Given the description of an element on the screen output the (x, y) to click on. 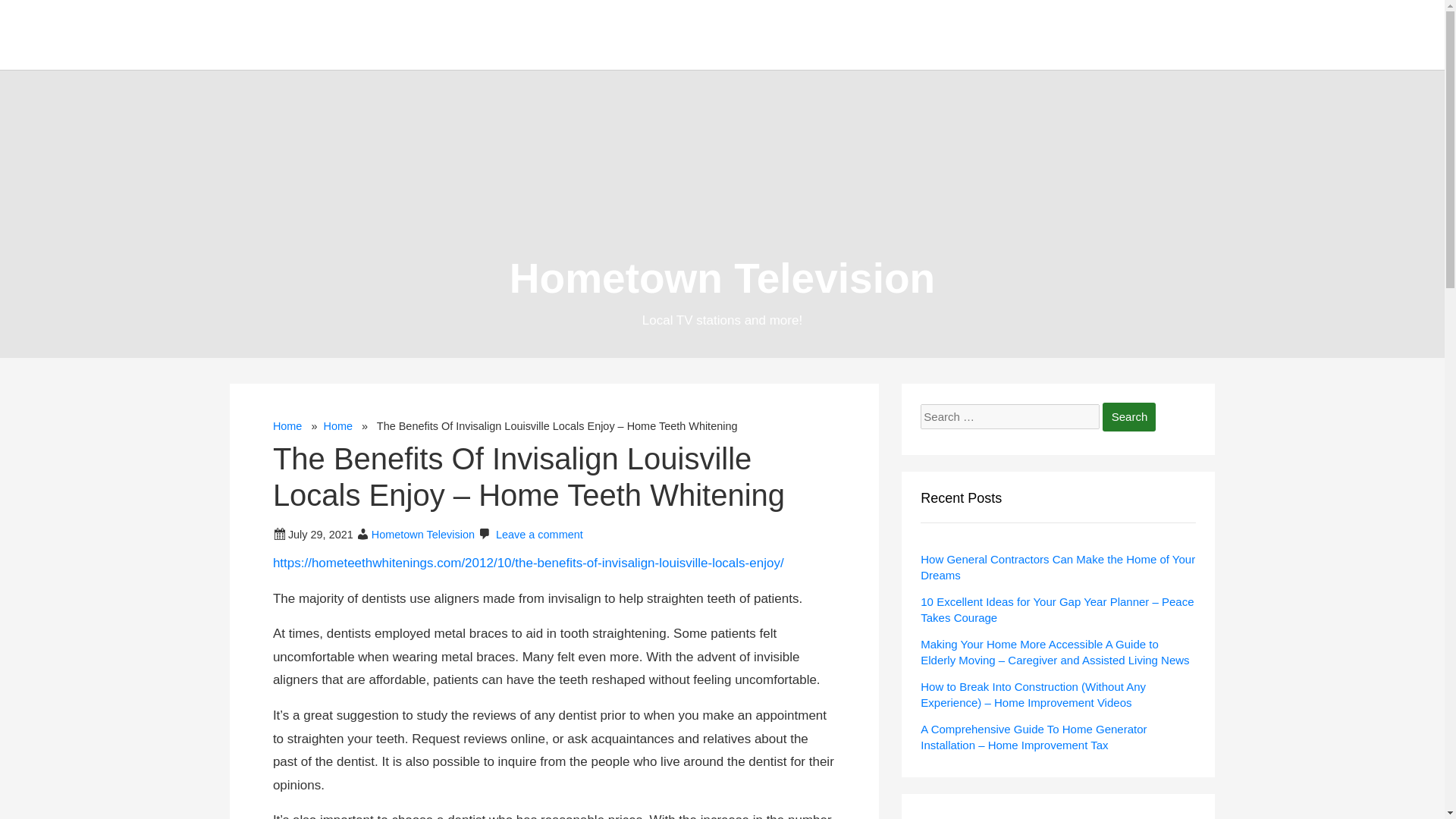
Search (1129, 416)
Home (287, 426)
Posts by Hometown Television (422, 534)
Hometown Television (721, 278)
Leave a comment (539, 534)
Search (1129, 416)
How General Contractors Can Make the Home of Your Dreams (1057, 566)
Home (337, 426)
Hometown Television (422, 534)
Search (1129, 416)
